Given the description of an element on the screen output the (x, y) to click on. 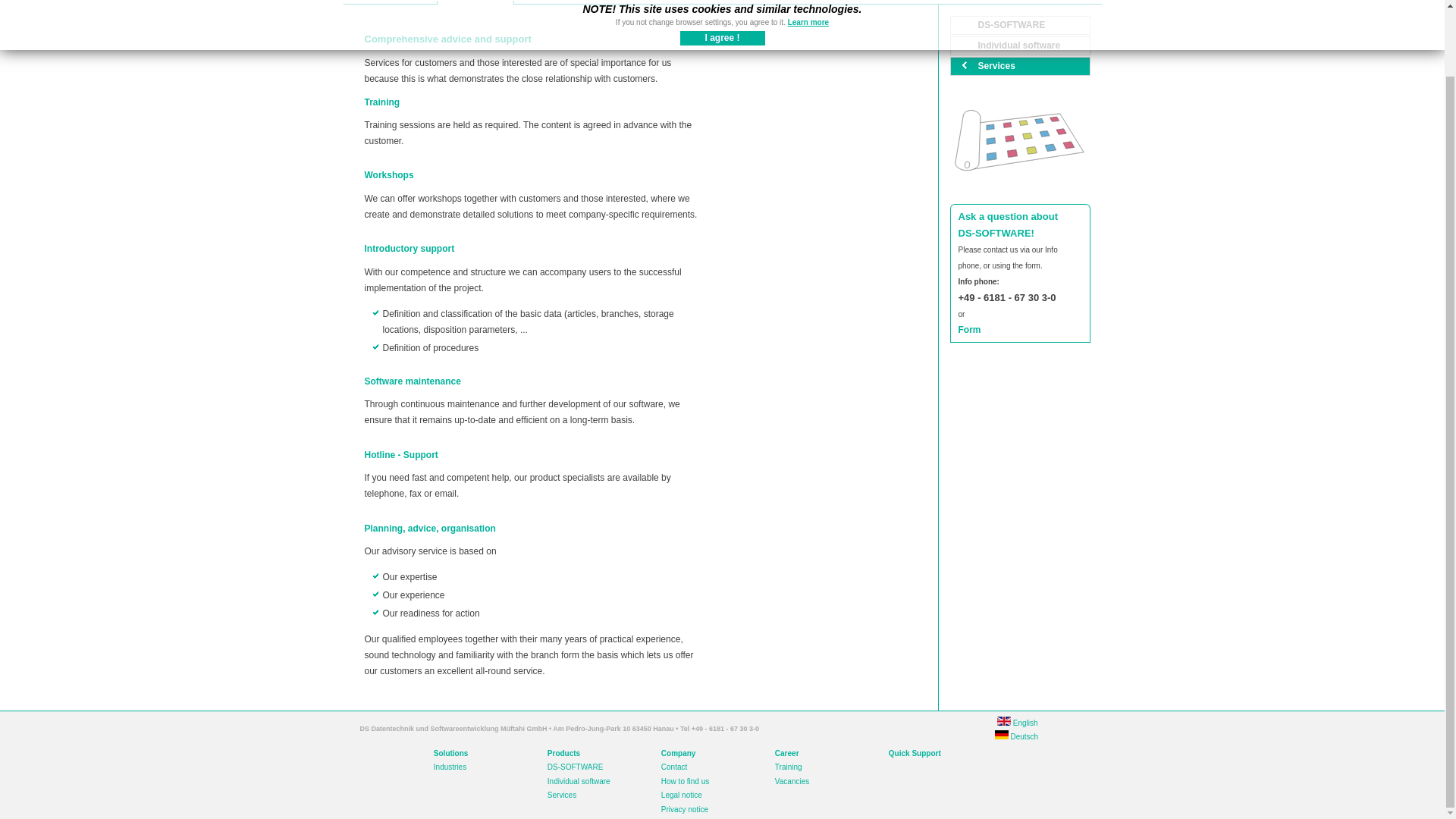
Products (474, 2)
Services (561, 795)
Services (1019, 66)
Individual software (1019, 45)
Deutsch (1016, 736)
Company (678, 753)
Solutions (450, 753)
Form (969, 329)
DS-SOFTWARE (1019, 25)
Quick Support (914, 753)
